Given the description of an element on the screen output the (x, y) to click on. 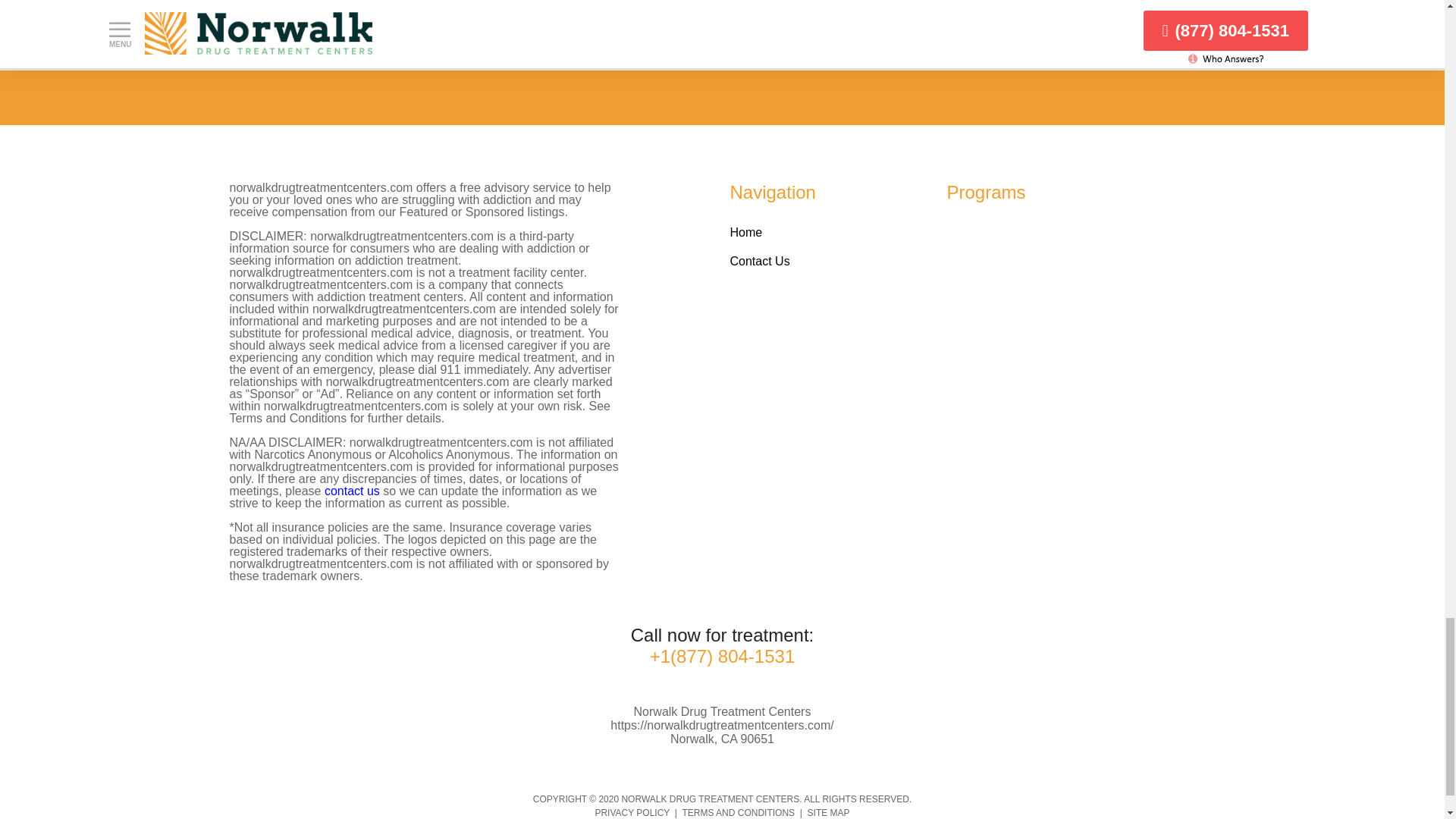
Home (745, 232)
Contact Us (759, 260)
PRIVACY POLICY (631, 812)
TERMS AND CONDITIONS (737, 812)
SITE MAP (829, 812)
contact us (352, 490)
